Given the description of an element on the screen output the (x, y) to click on. 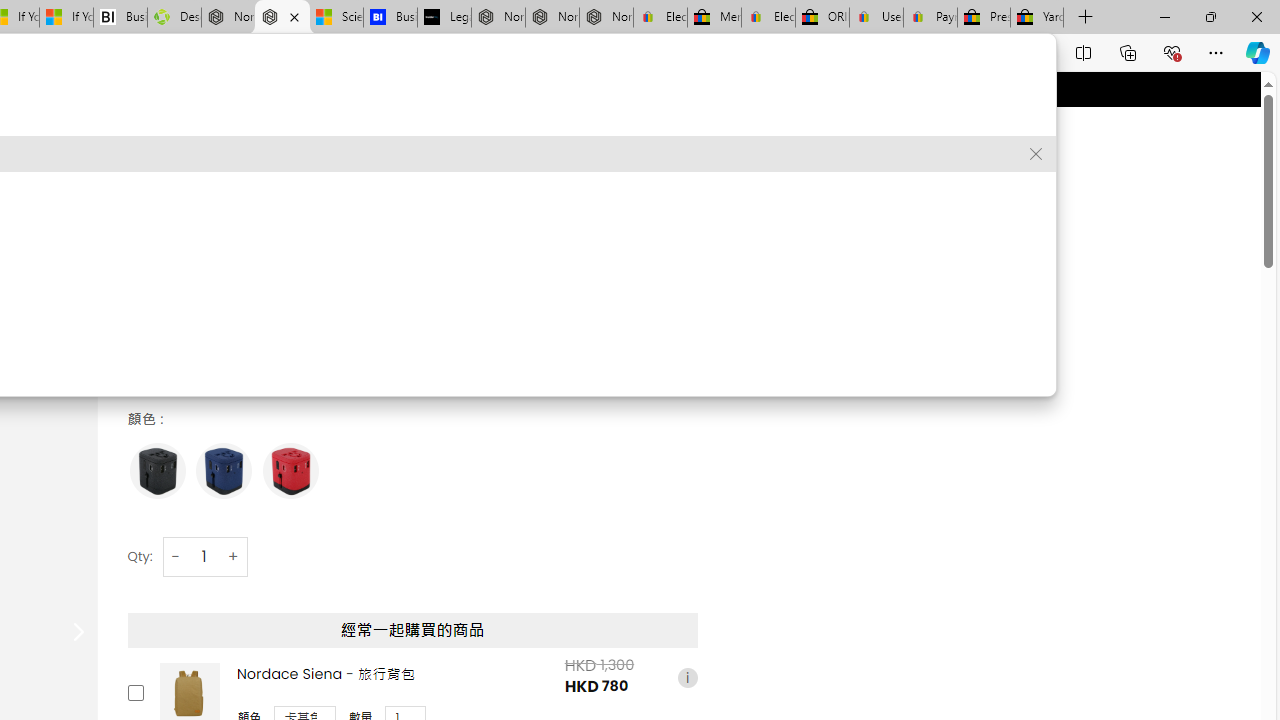
User Privacy Notice | eBay (875, 17)
